Given the description of an element on the screen output the (x, y) to click on. 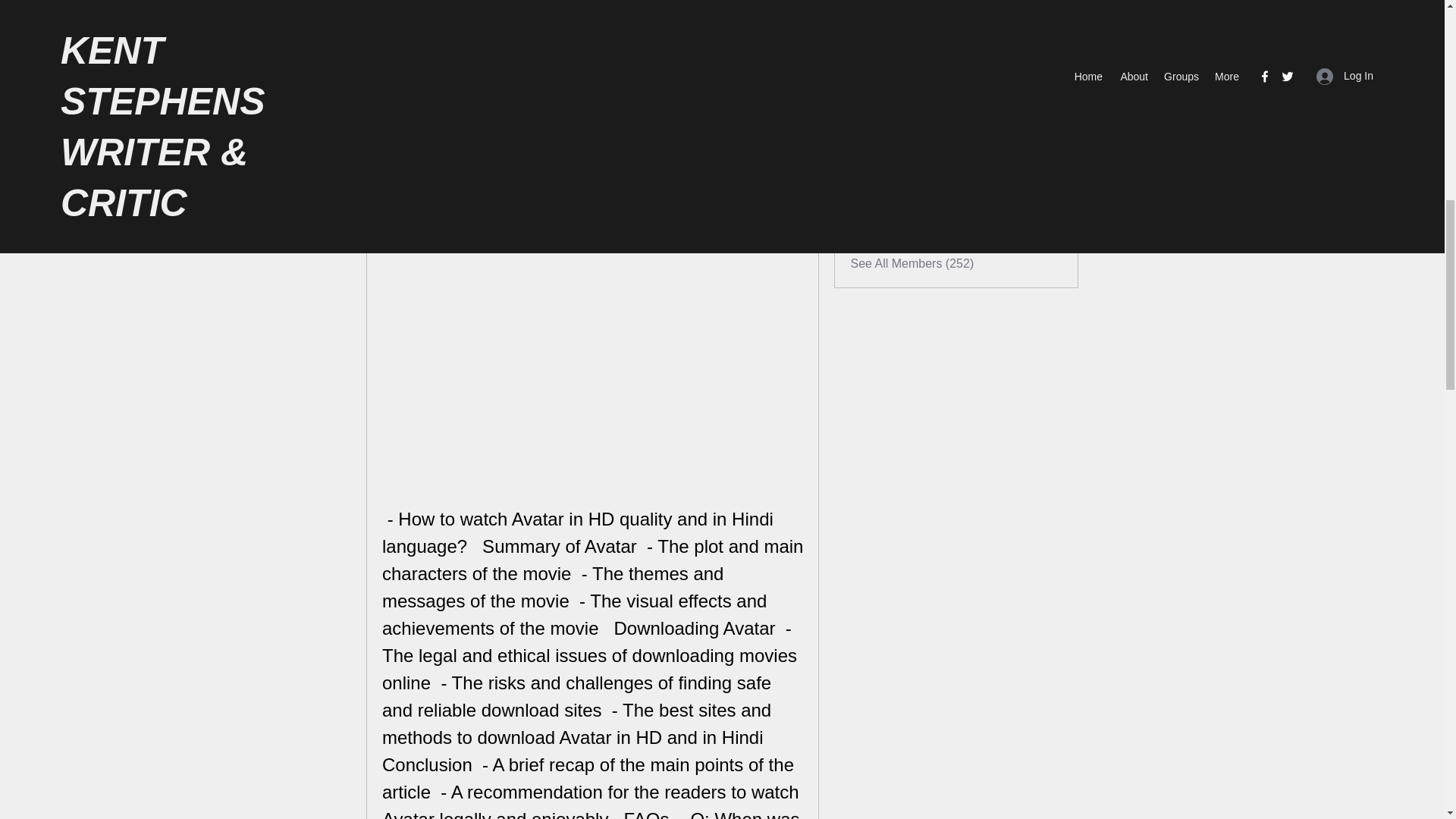
Kent Stephens (863, 81)
Build Link CTV (863, 226)
Augustus Cuthbert (936, 151)
Follow (1044, 190)
em (863, 189)
web97396 (863, 117)
Kent Stephens (926, 78)
Build Link CTV (926, 224)
Follow (1044, 153)
web97396 (914, 115)
Augustus Cuthbert (863, 153)
em (894, 187)
Follow (1044, 226)
Follow (1044, 117)
Follow (1044, 80)
